Given the description of an element on the screen output the (x, y) to click on. 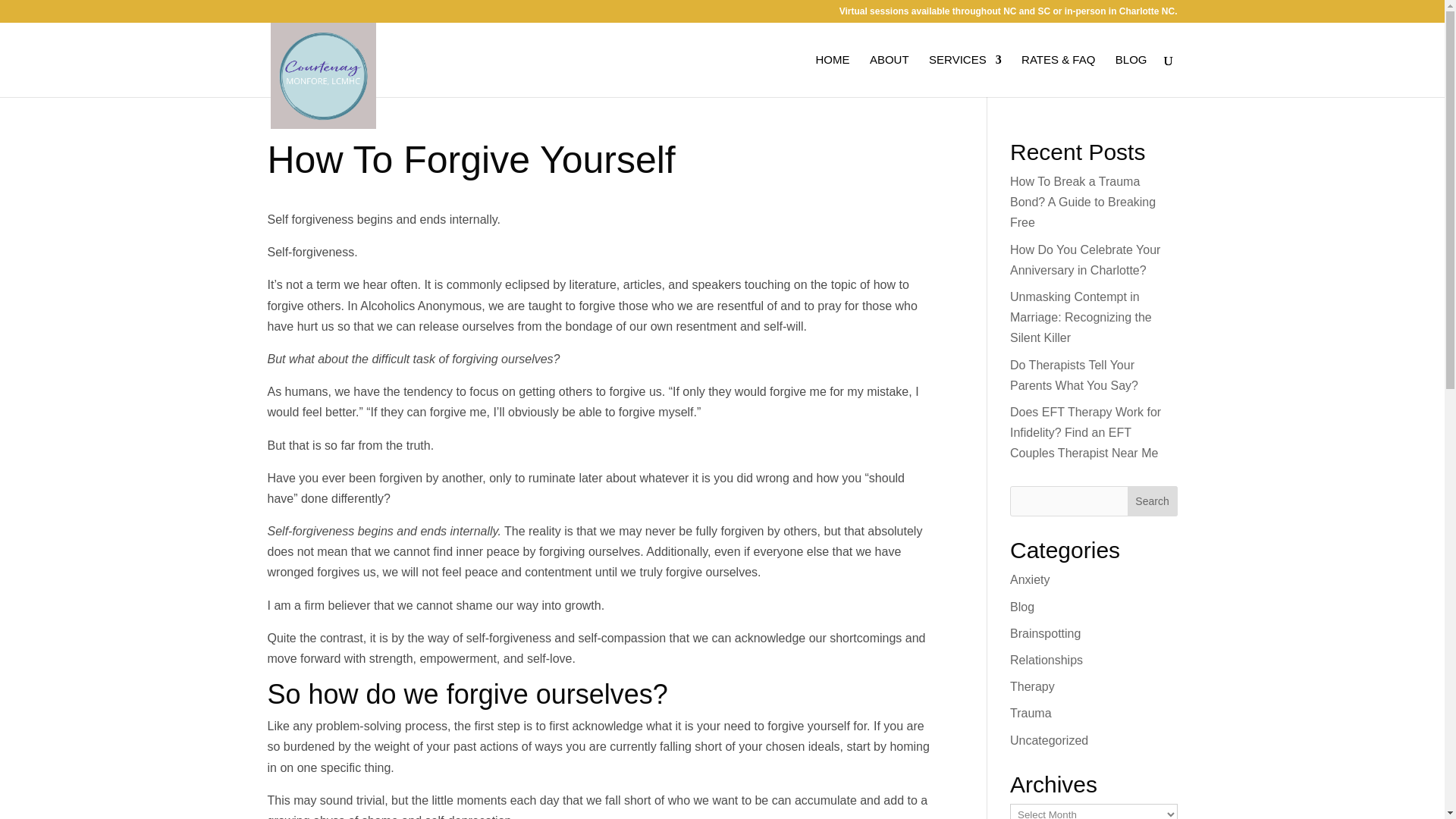
Uncategorized (1048, 739)
HOME (831, 75)
Therapy (1032, 686)
Relationships (1046, 659)
Anxiety (1029, 579)
Do Therapists Tell Your Parents What You Say? (1074, 374)
How Do You Celebrate Your Anniversary in Charlotte? (1085, 259)
Brainspotting (1045, 633)
How To Break a Trauma Bond? A Guide to Breaking Free (1083, 202)
Trauma (1030, 712)
Search (1151, 501)
BLOG (1131, 75)
ABOUT (888, 75)
